Given the description of an element on the screen output the (x, y) to click on. 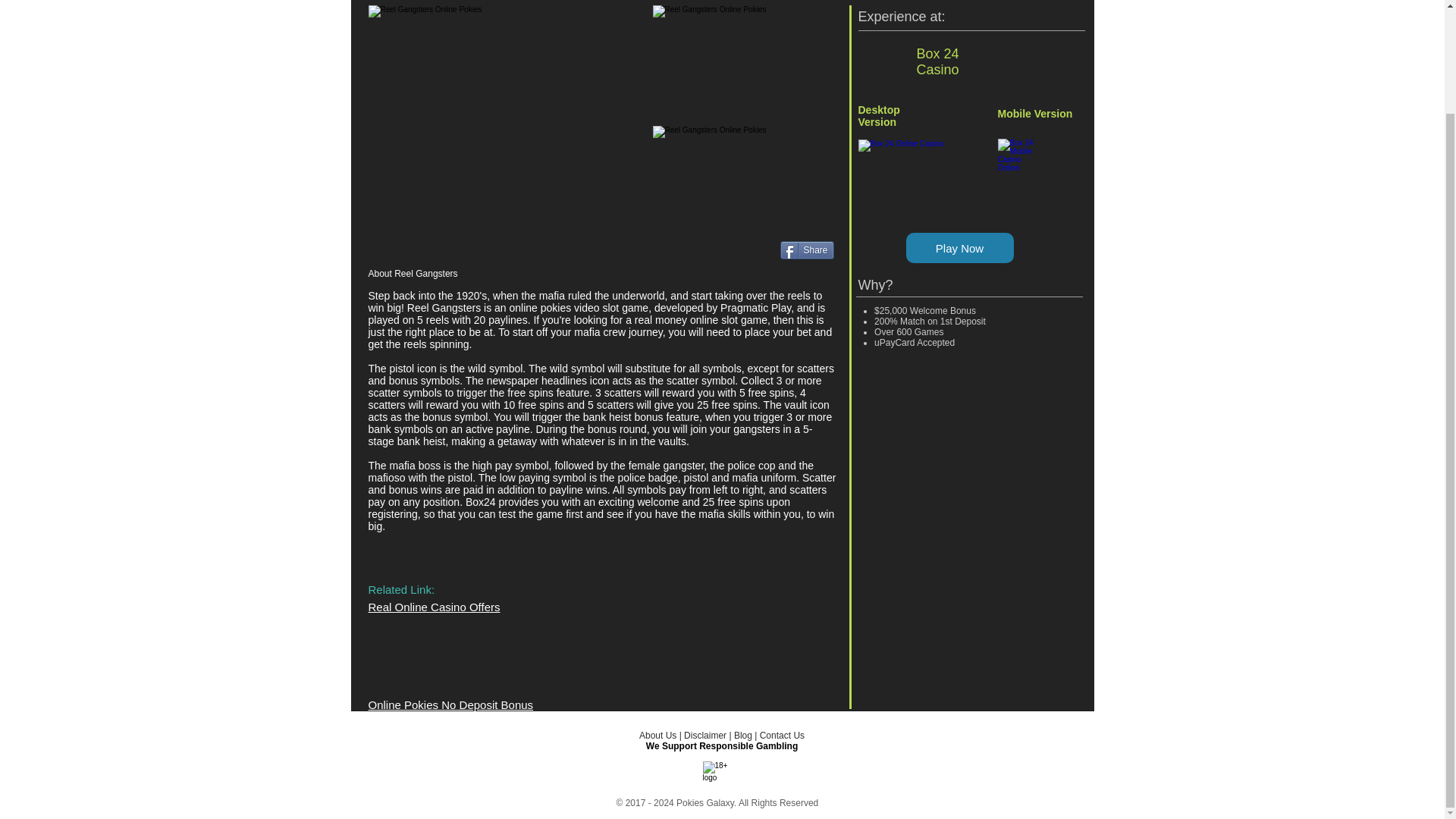
Reel Gangsters Online Pokies (742, 49)
Share (805, 249)
Reel Gangsters Online Pokies (742, 171)
Reel Gangsters Online Pokies (506, 99)
